Given the description of an element on the screen output the (x, y) to click on. 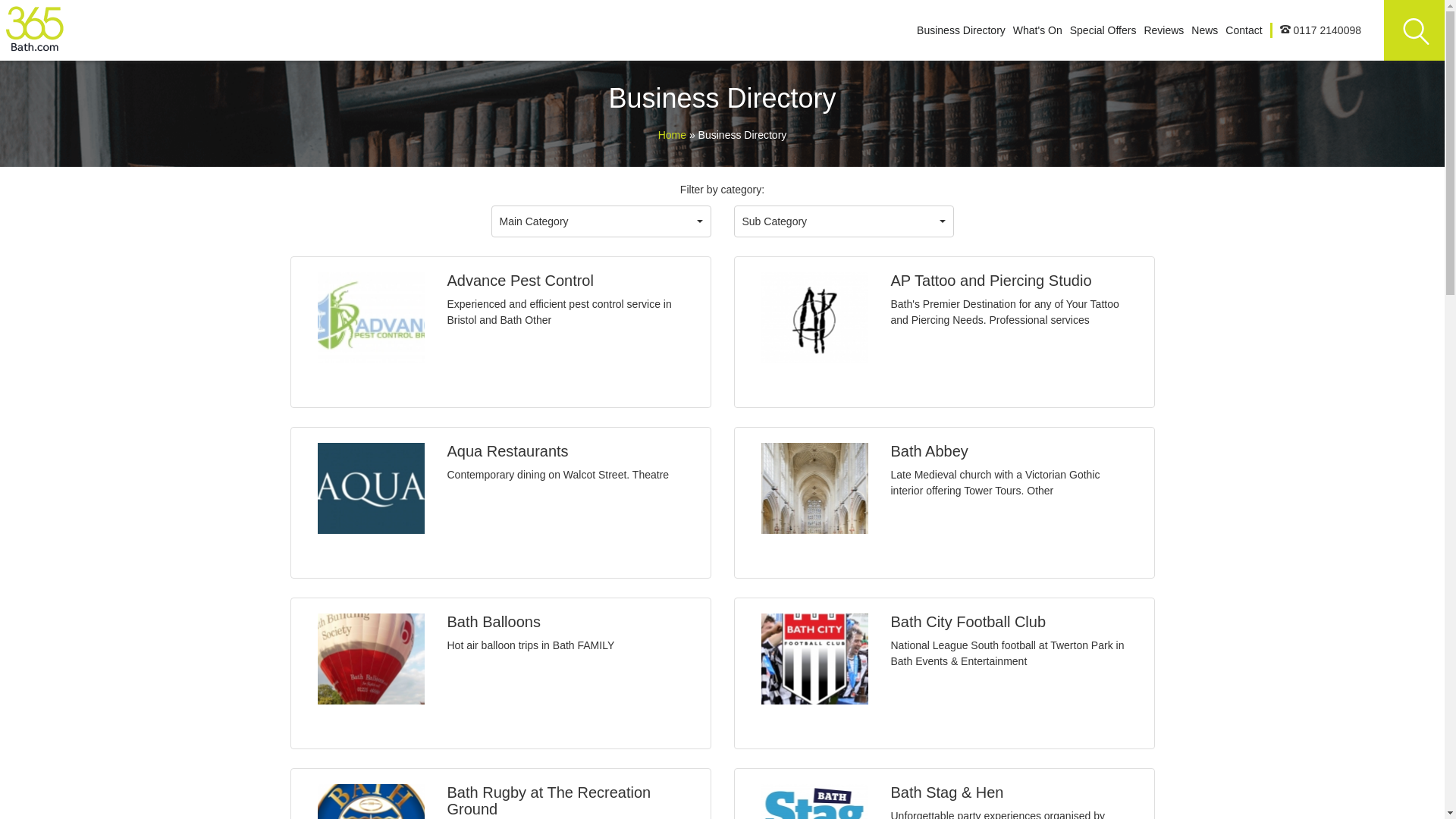
Sub Category Element type: text (843, 221)
Contact Element type: text (1243, 30)
Business Directory Element type: text (960, 30)
Home Element type: text (673, 134)
What'S On Element type: text (1037, 30)
News Element type: text (1204, 30)
Special Offers Element type: text (1103, 30)
Reviews Element type: text (1163, 30)
Main Category Element type: text (601, 221)
